Given the description of an element on the screen output the (x, y) to click on. 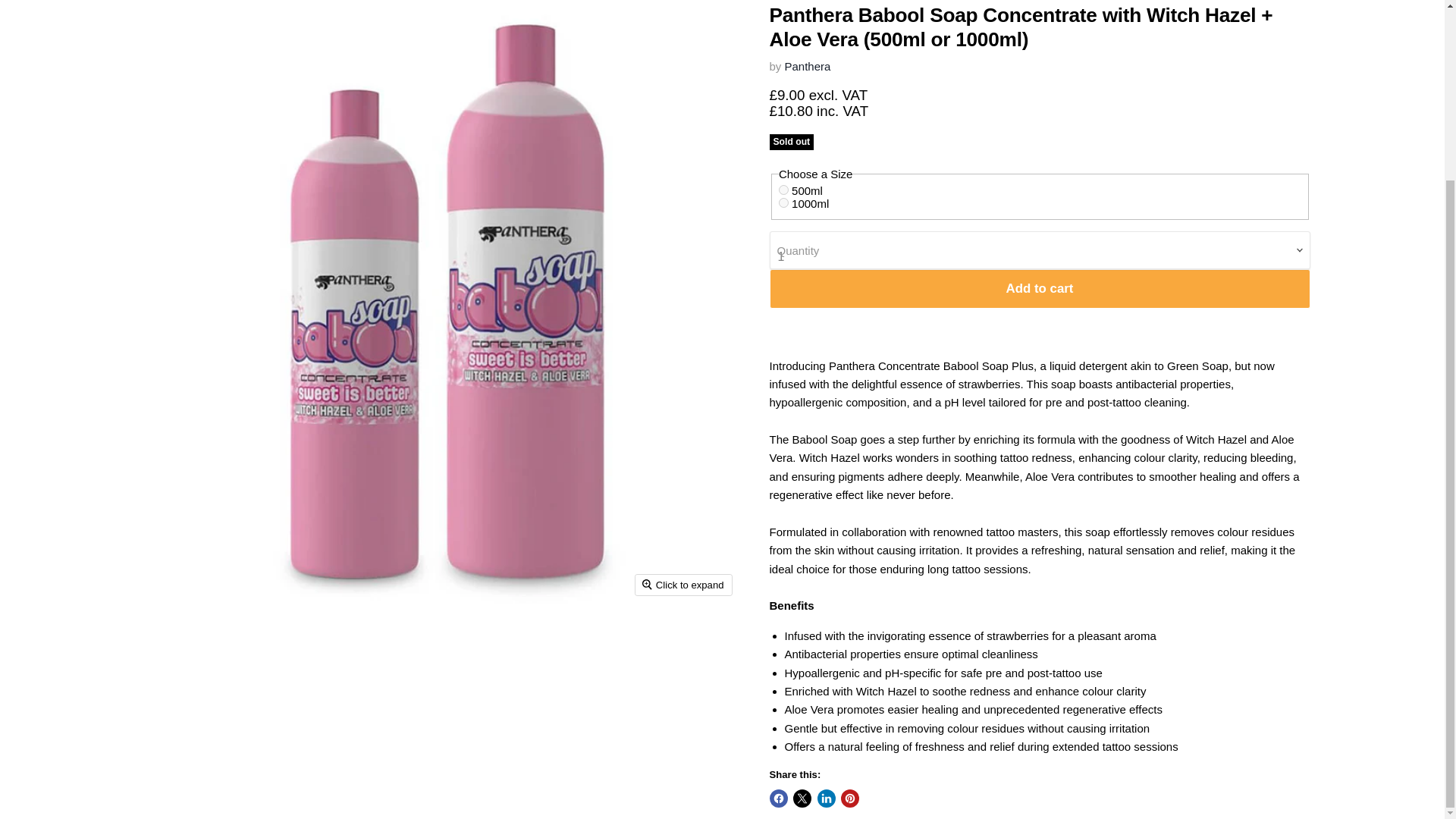
500ml (783, 189)
1000ml (783, 203)
Panthera (807, 65)
